Given the description of an element on the screen output the (x, y) to click on. 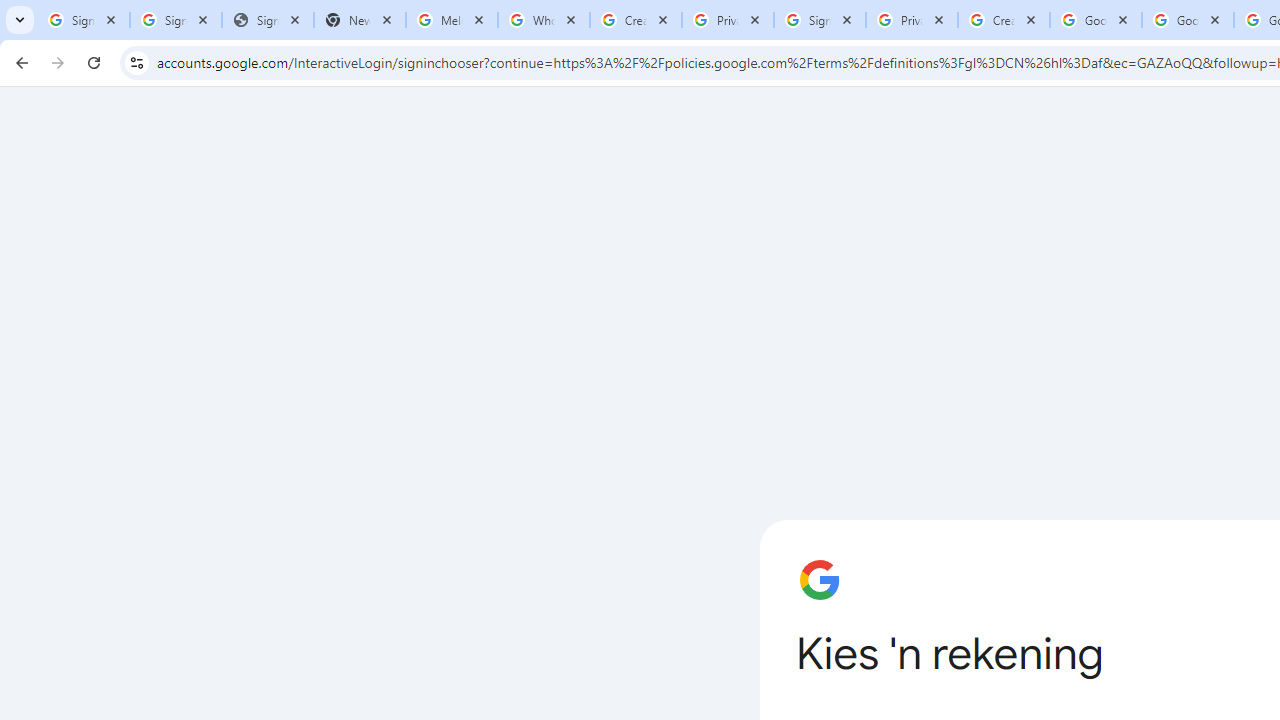
Create your Google Account (1003, 20)
Sign in - Google Accounts (820, 20)
New Tab (359, 20)
Create your Google Account (636, 20)
